Given the description of an element on the screen output the (x, y) to click on. 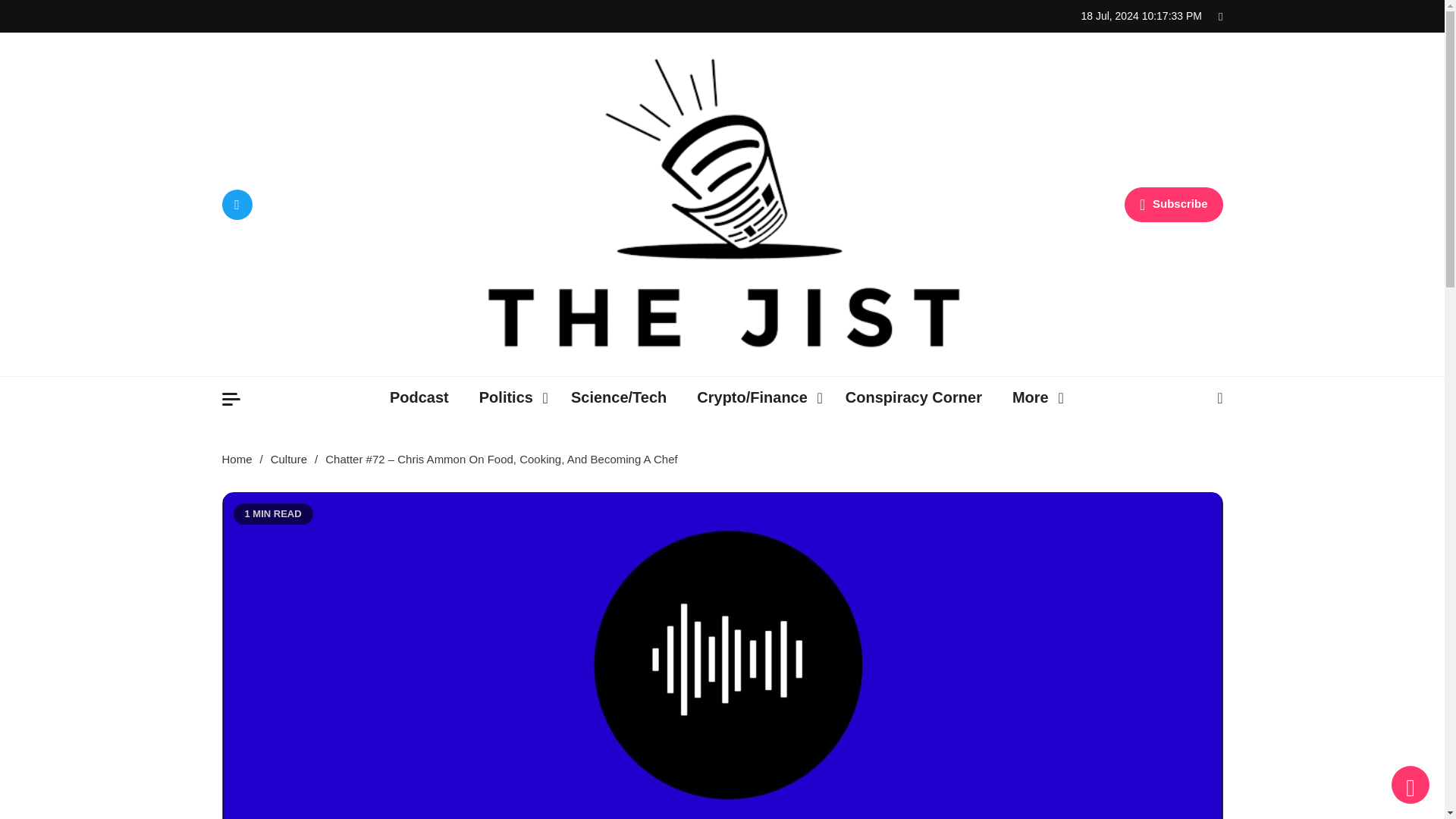
Podcast (419, 397)
Politics (510, 397)
More (1034, 397)
Home (236, 459)
Subscribe (1173, 204)
The Jist (514, 377)
Search (1180, 456)
Conspiracy Corner (913, 397)
Culture (288, 459)
